Given the description of an element on the screen output the (x, y) to click on. 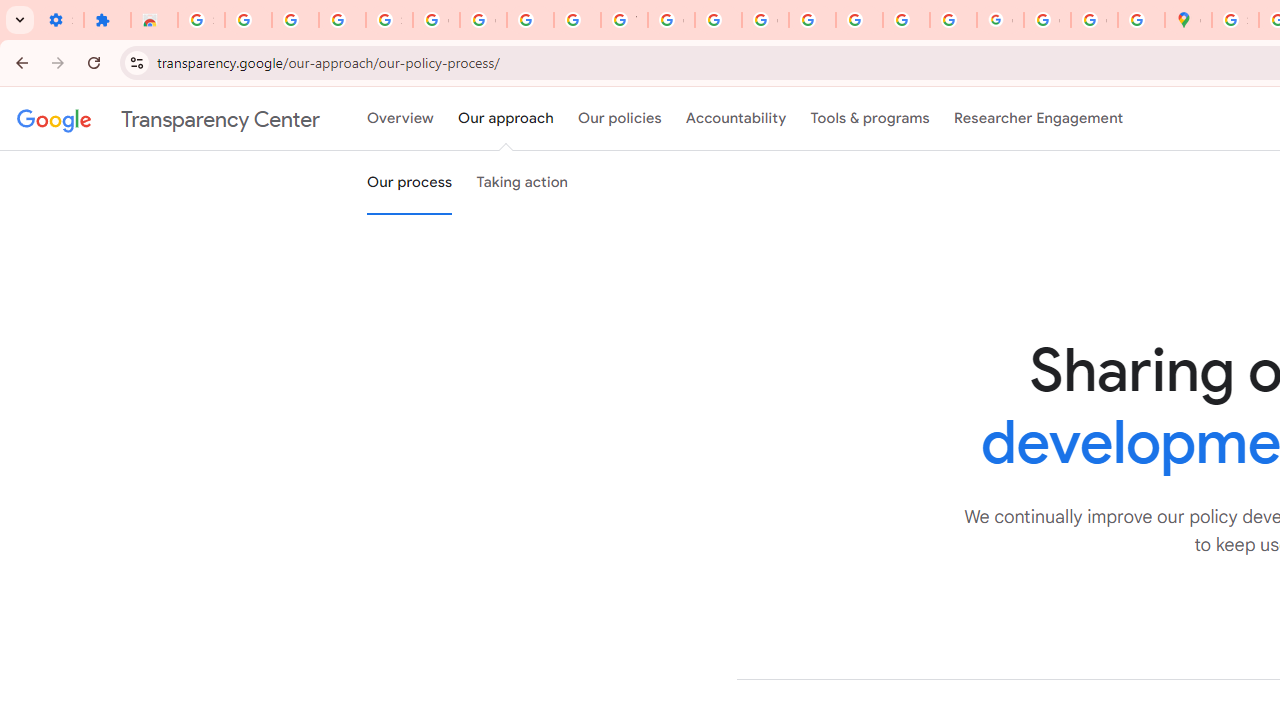
Sign in - Google Accounts (1235, 20)
Delete photos & videos - Computer - Google Photos Help (248, 20)
Google Maps (1188, 20)
Researcher Engagement (1038, 119)
Our policies (619, 119)
Transparency Center (167, 119)
Tools & programs (869, 119)
Reviews: Helix Fruit Jump Arcade Game (153, 20)
